Given the description of an element on the screen output the (x, y) to click on. 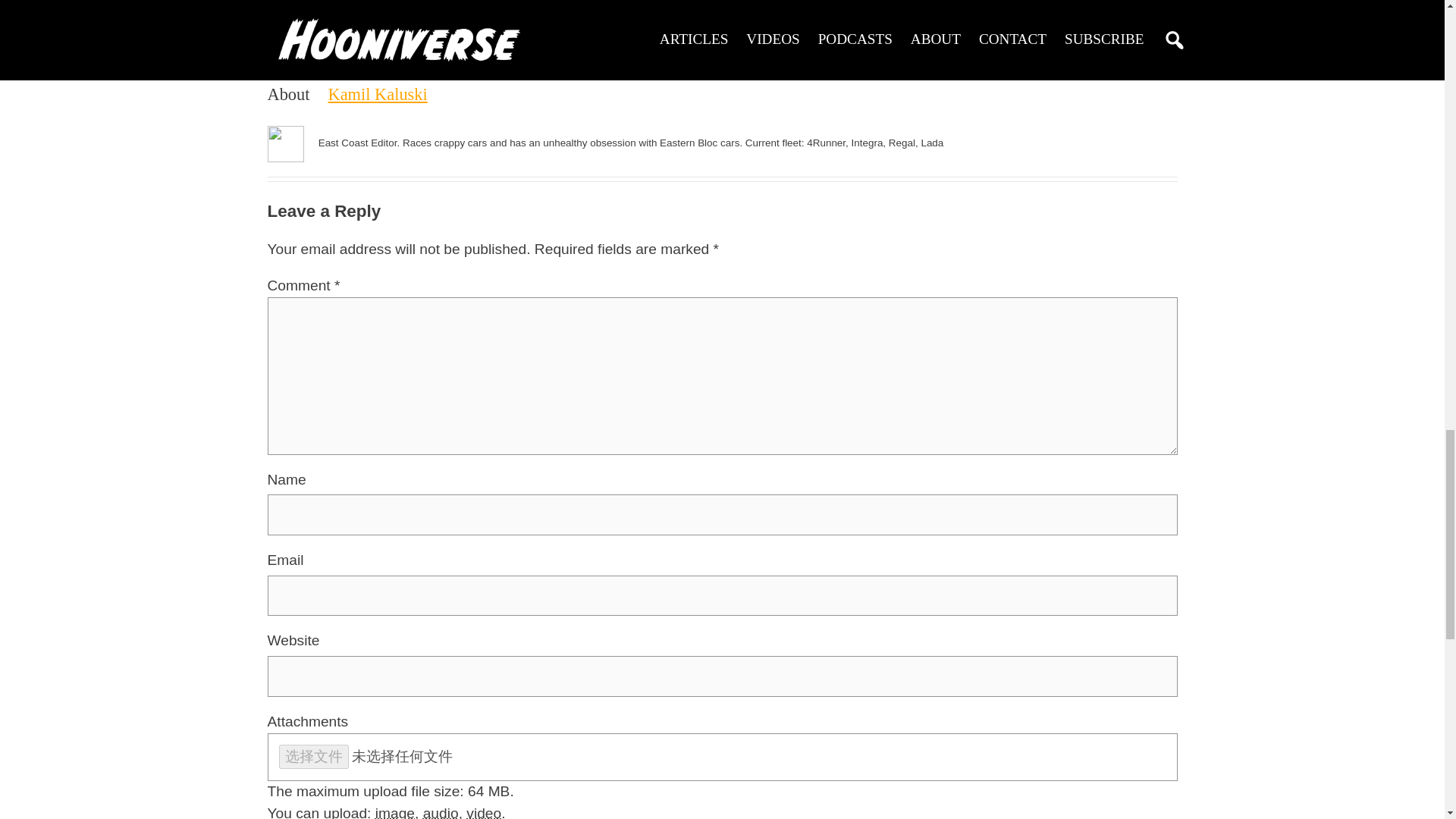
Like or Reblog (721, 34)
jpg, jpeg, jpe, gif, png, bmp, tiff, tif, ico, heic (394, 812)
mp3, m4a, m4b, aac, ram, wav, ogg, oga, flac, wma, mka (440, 812)
Kamil Kaluski (376, 94)
